Given the description of an element on the screen output the (x, y) to click on. 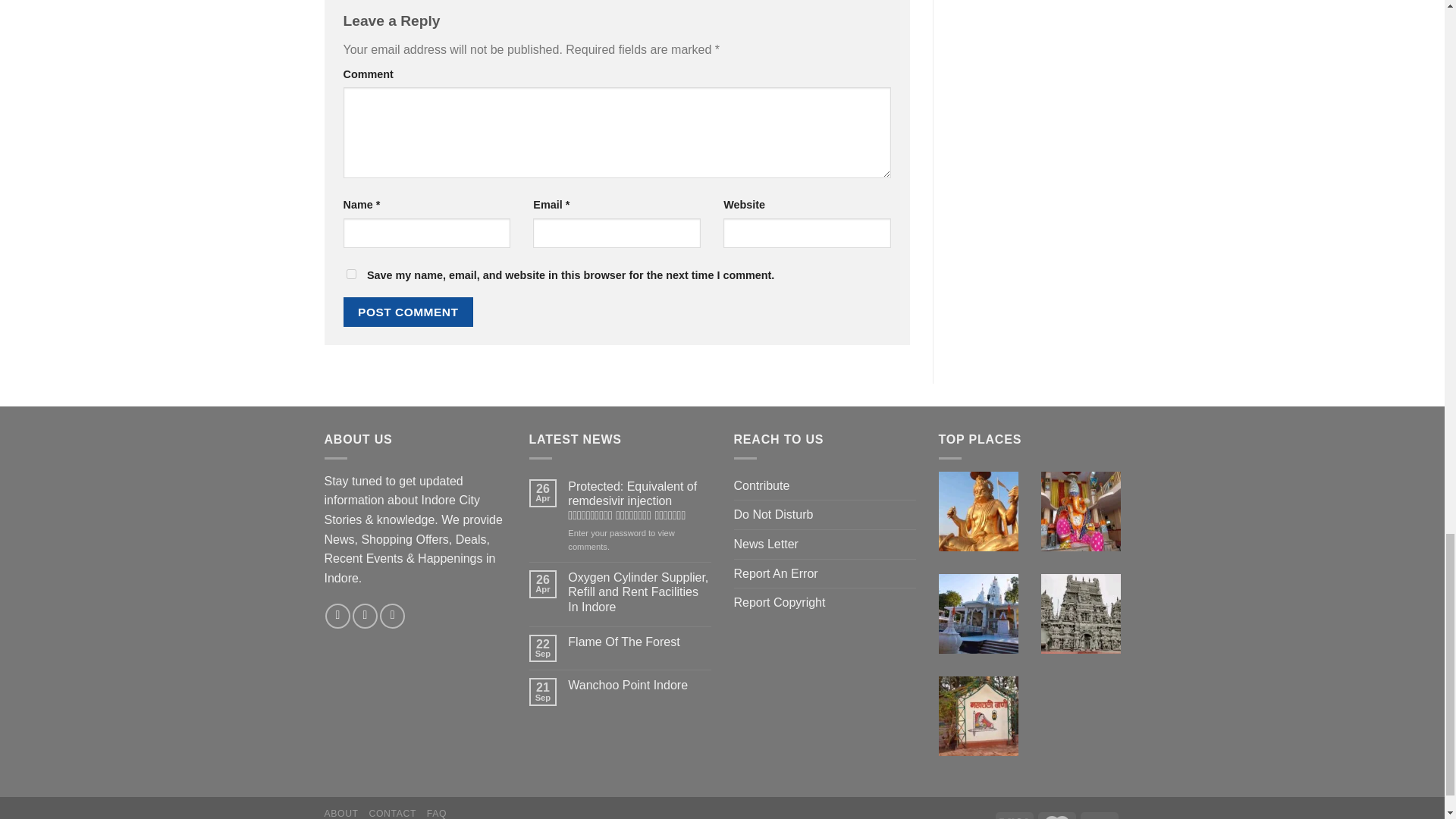
Flame Of The Forest (638, 641)
Wanchoo Point Indore (638, 685)
Post Comment (407, 311)
yes (350, 274)
